Given the description of an element on the screen output the (x, y) to click on. 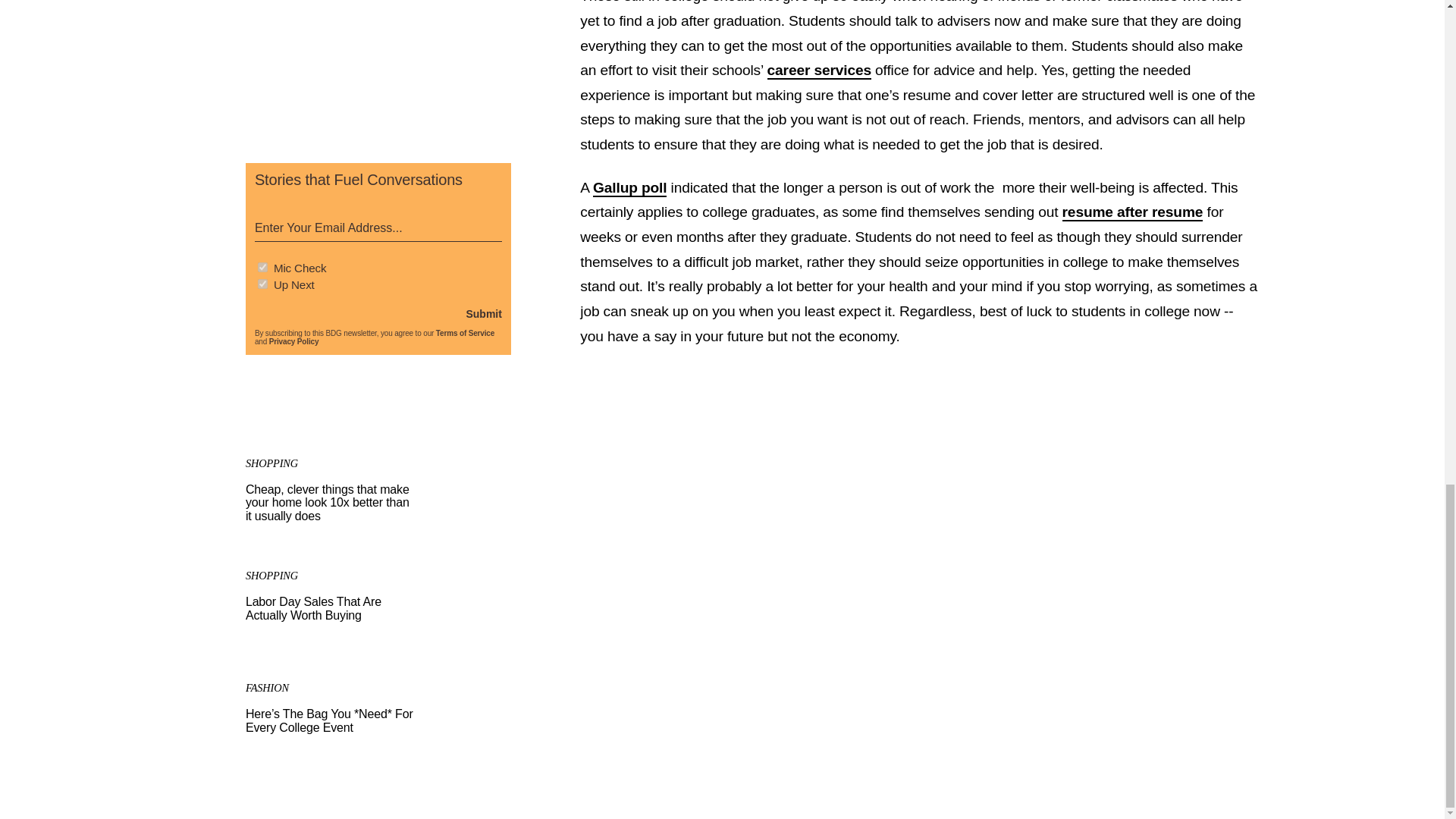
career services (818, 70)
Gallup poll (378, 609)
Terms of Service (629, 188)
Privacy Policy (465, 333)
resume after resume (293, 341)
Submit (1133, 212)
